Given the description of an element on the screen output the (x, y) to click on. 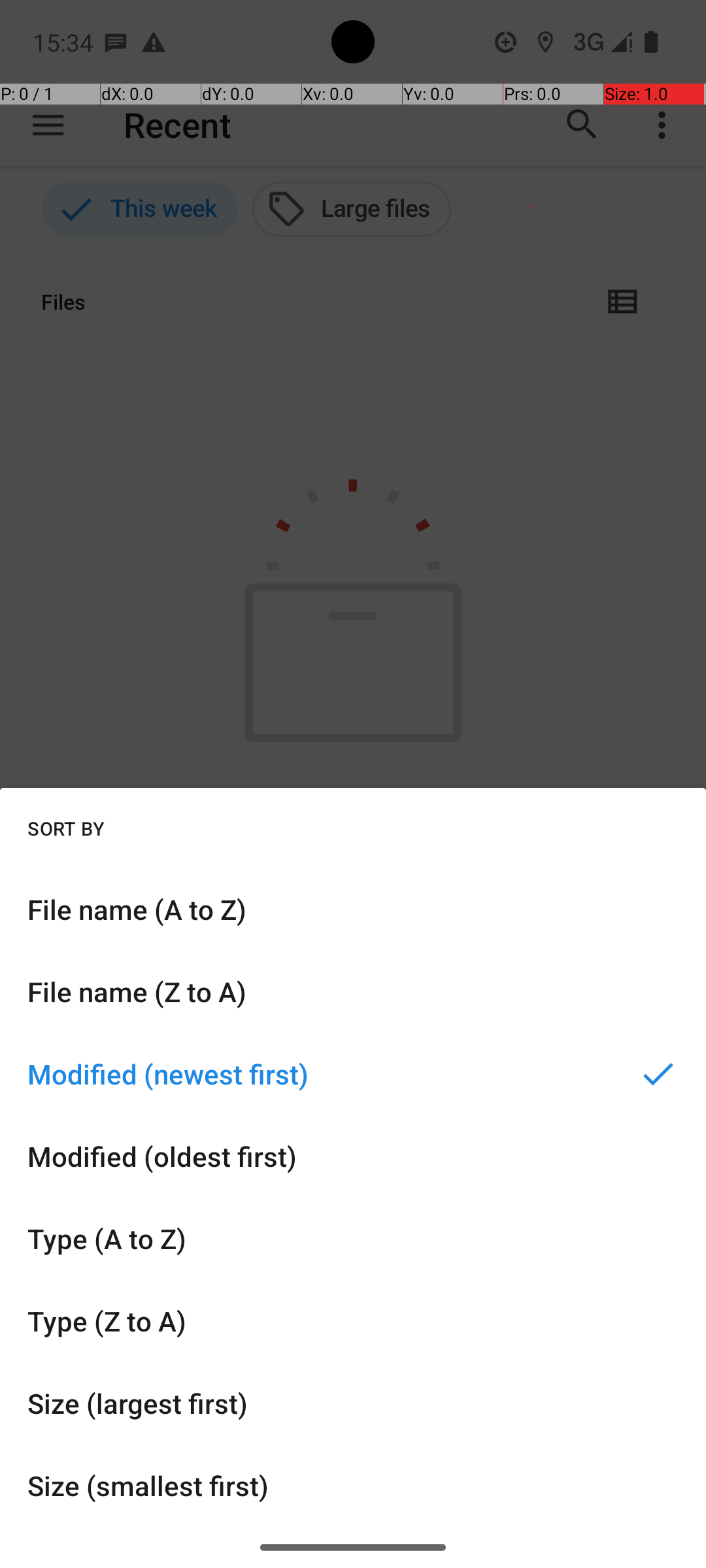
SORT BY Element type: android.widget.TextView (66, 827)
File name (A to Z) Element type: android.widget.CheckedTextView (353, 909)
File name (Z to A) Element type: android.widget.CheckedTextView (353, 991)
Modified (newest first) Element type: android.widget.CheckedTextView (353, 1073)
Modified (oldest first) Element type: android.widget.CheckedTextView (353, 1156)
Type (A to Z) Element type: android.widget.CheckedTextView (353, 1238)
Type (Z to A) Element type: android.widget.CheckedTextView (353, 1320)
Size (largest first) Element type: android.widget.CheckedTextView (353, 1403)
Size (smallest first) Element type: android.widget.CheckedTextView (353, 1485)
